Given the description of an element on the screen output the (x, y) to click on. 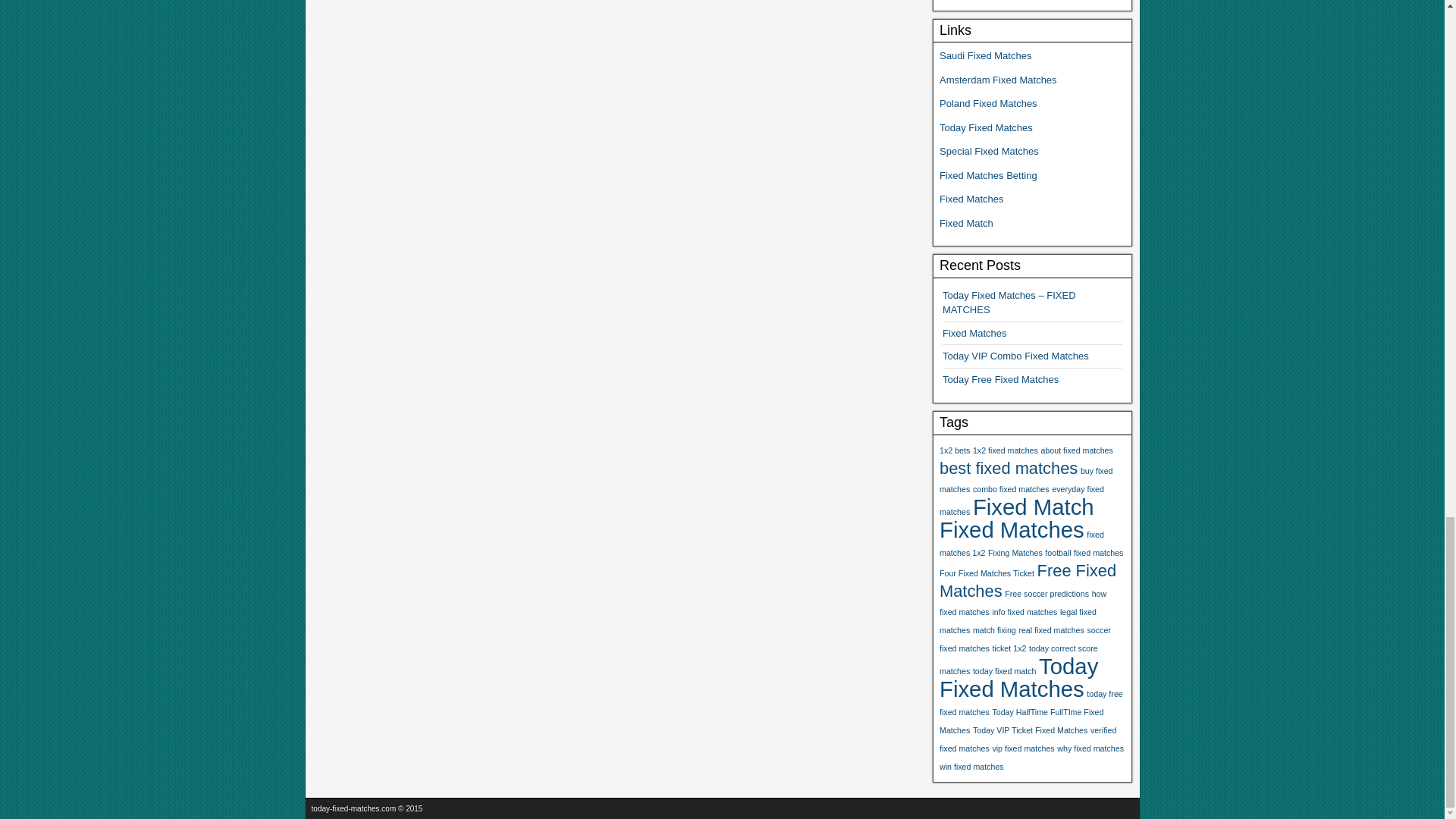
best fixed matches (1008, 467)
1x2 fixed matches (1005, 450)
fixed matches 1x2 (1021, 543)
1x2 bets (954, 450)
Amsterdam Fixed Matches (998, 79)
Saudi Fixed Matches (984, 55)
Fixed Match (965, 223)
Poland Fixed Matches (987, 102)
Today Fixed Matches  (987, 127)
buy fixed matches (1026, 479)
Fixed Matches (974, 333)
Fixed Matches (971, 198)
Fixed Matches (1011, 529)
Today VIP Combo Fixed Matches (1015, 355)
Fixed Matches Betting (987, 174)
